Given the description of an element on the screen output the (x, y) to click on. 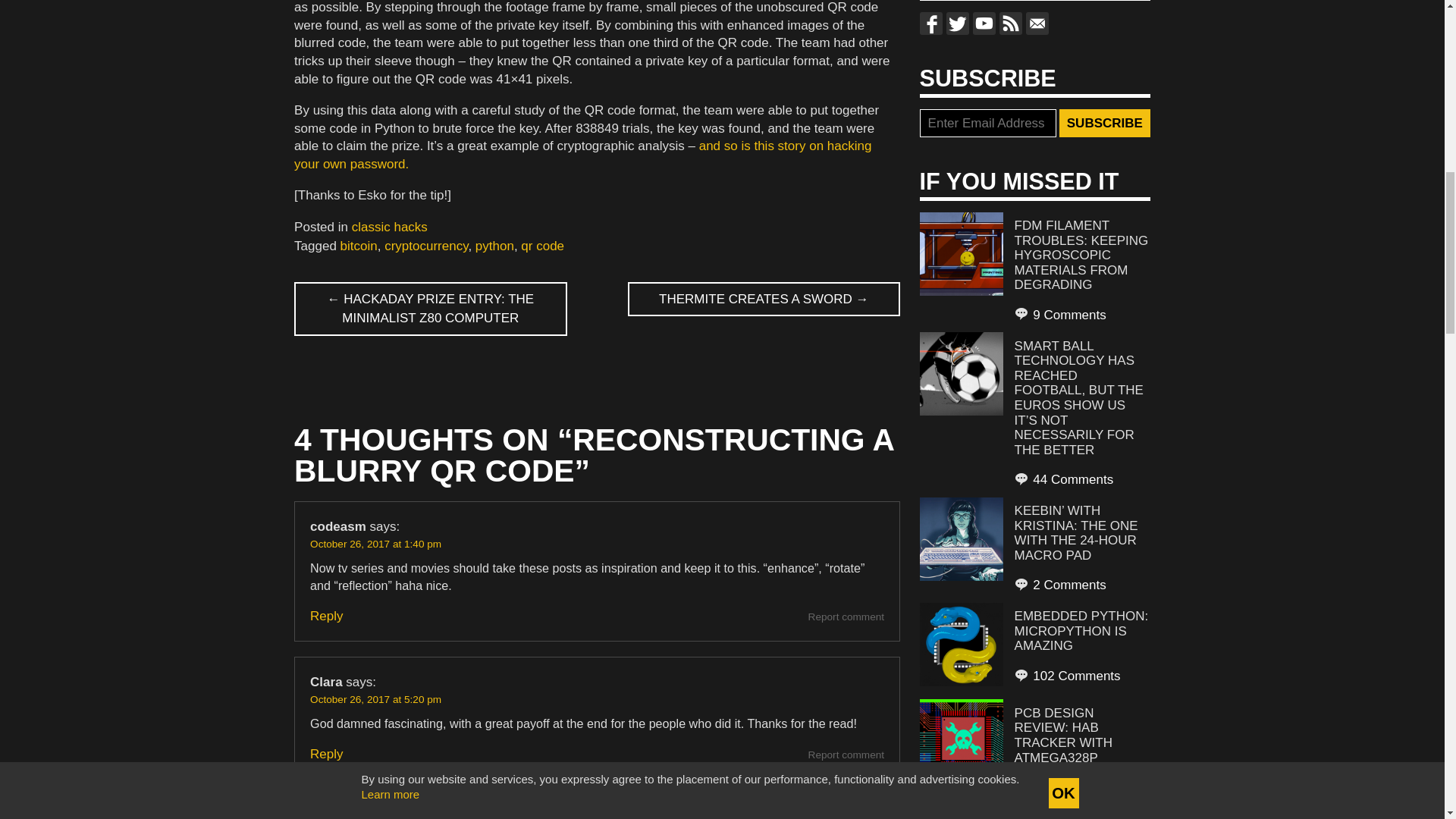
bitcoin (358, 246)
and so is this story on hacking your own password. (582, 154)
Report comment (845, 754)
python (494, 246)
Reply (326, 616)
October 26, 2017 at 5:20 pm (375, 699)
cryptocurrency (425, 246)
Report comment (845, 616)
Subscribe (1104, 123)
October 26, 2017 at 1:40 pm (375, 543)
classic hacks (390, 227)
qr code (542, 246)
